Given the description of an element on the screen output the (x, y) to click on. 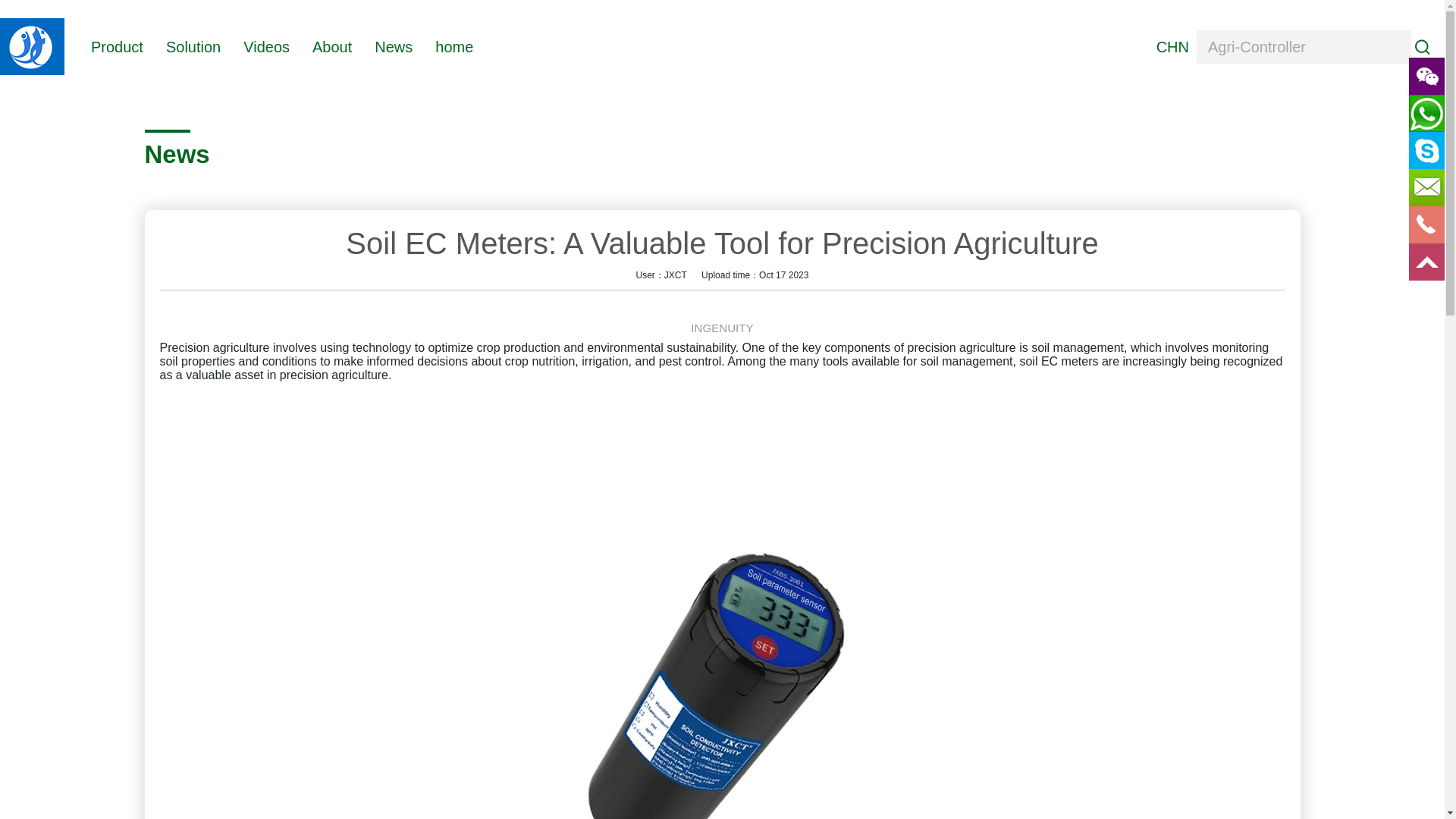
About (332, 46)
Videos (266, 46)
Solution (193, 46)
home (454, 46)
News (393, 46)
Product (116, 46)
Agri-Controller (1303, 46)
